Given the description of an element on the screen output the (x, y) to click on. 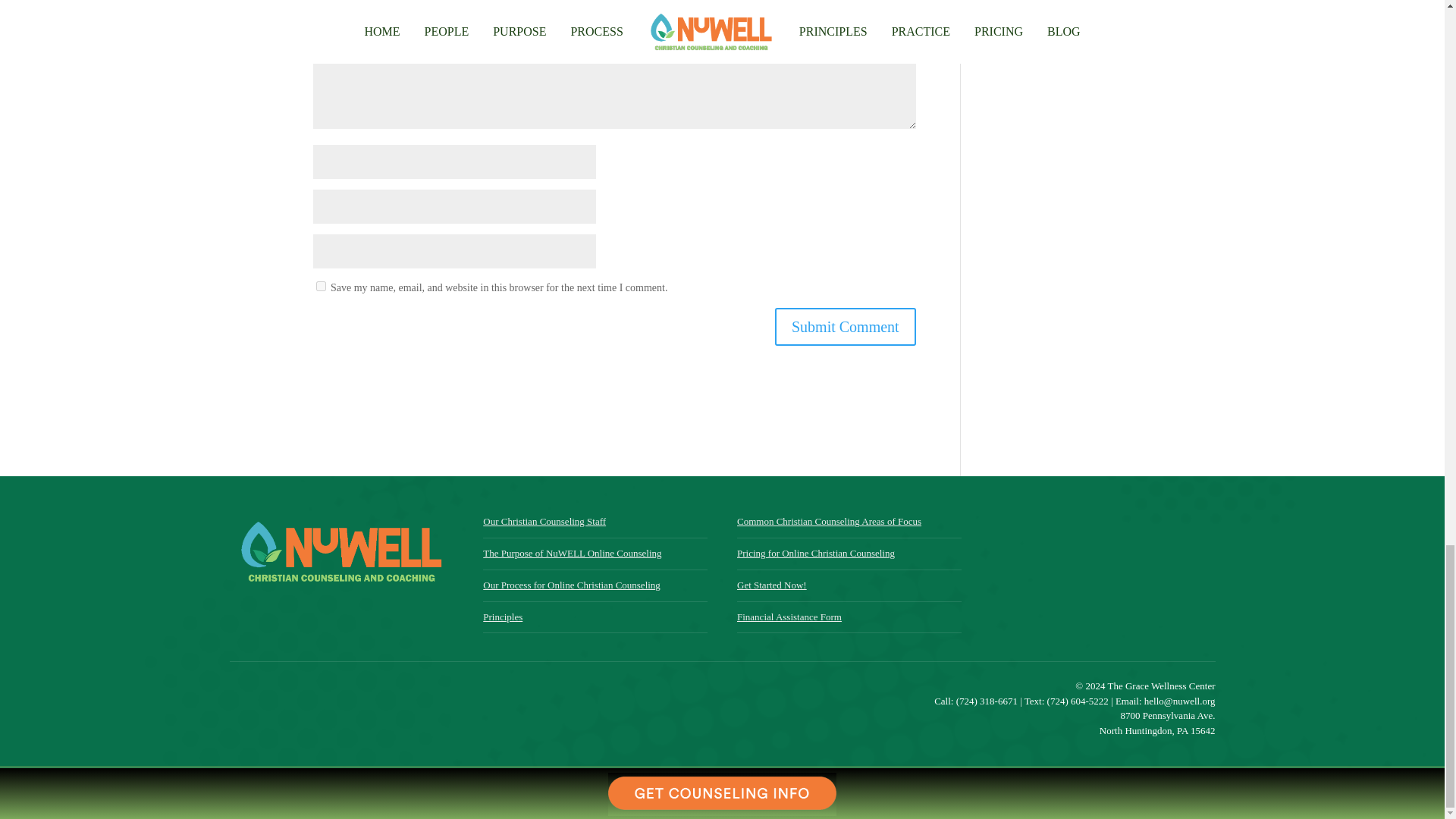
nwell cc and c orange light blue drop (340, 551)
yes (319, 286)
Submit Comment (844, 326)
Getting Started With Us (1103, 576)
